Given the description of an element on the screen output the (x, y) to click on. 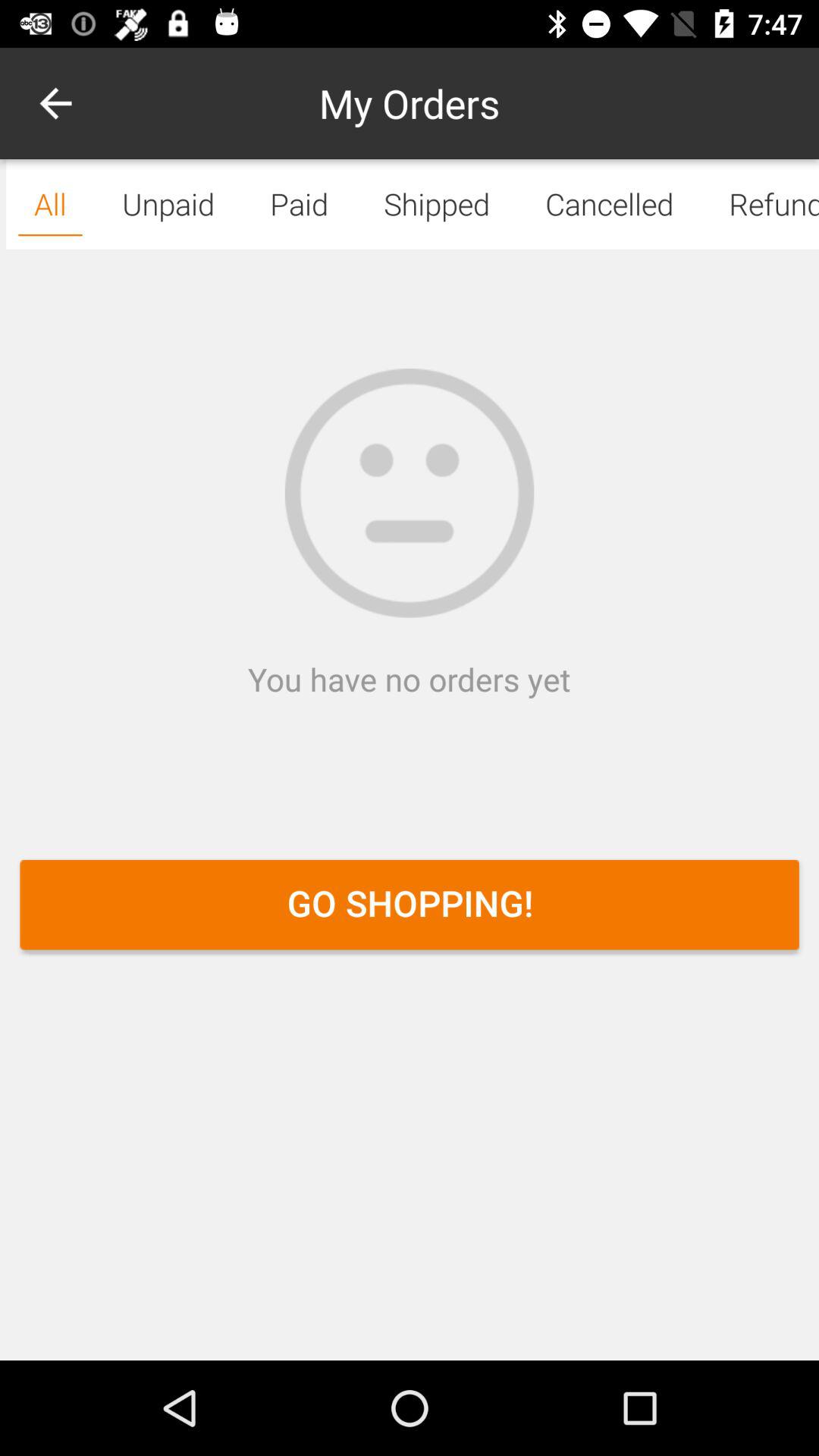
scroll until go shopping! item (409, 904)
